Given the description of an element on the screen output the (x, y) to click on. 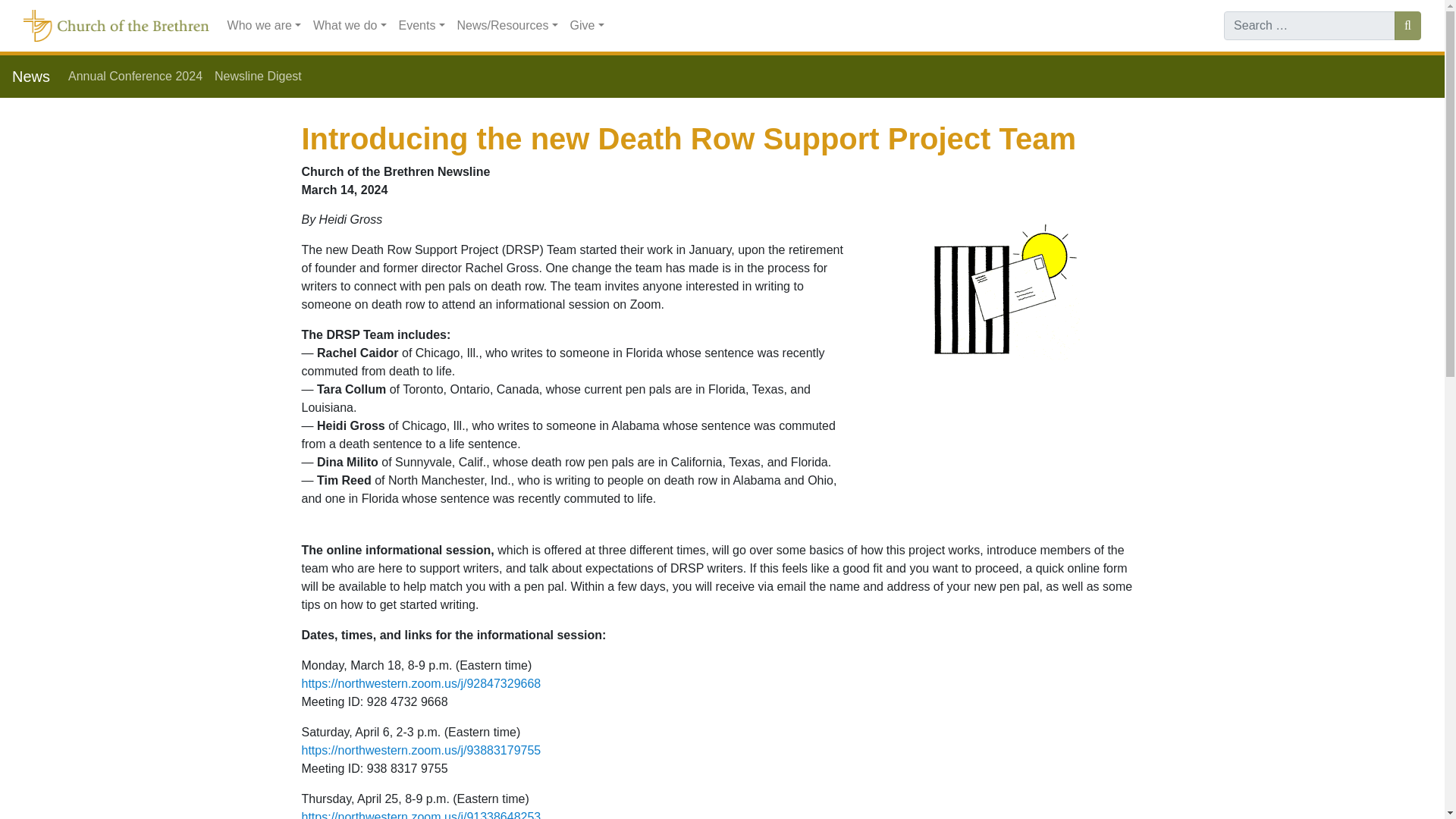
Events (422, 25)
What we do (350, 25)
Who we are (264, 25)
Who we are (264, 25)
What we do (350, 25)
